Given the description of an element on the screen output the (x, y) to click on. 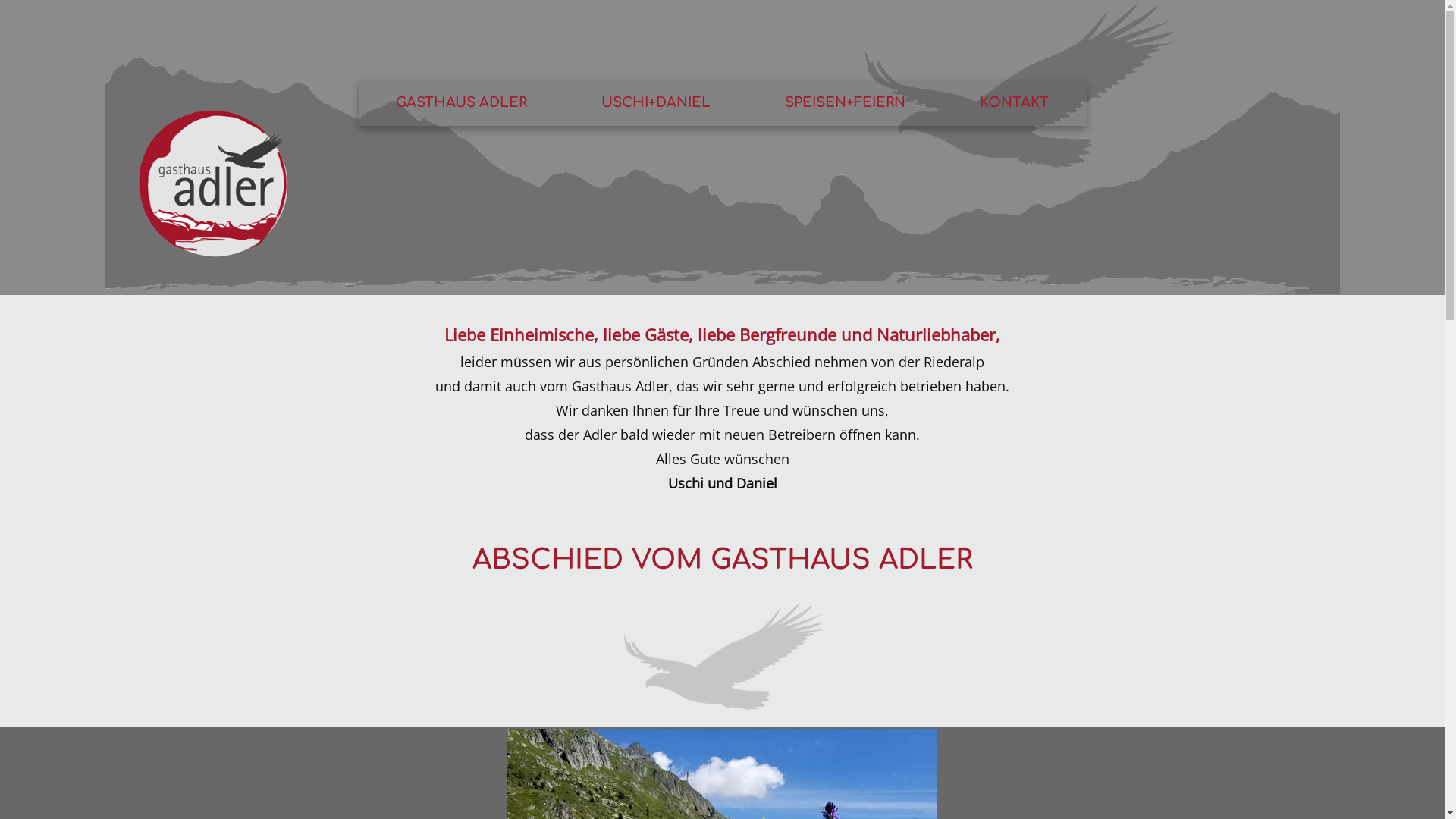
SPEISEN+FEIERN Element type: text (845, 102)
KONTAKT Element type: text (1014, 102)
USCHI+DANIEL Element type: text (655, 102)
GASTHAUS ADLER Element type: text (461, 102)
